Given the description of an element on the screen output the (x, y) to click on. 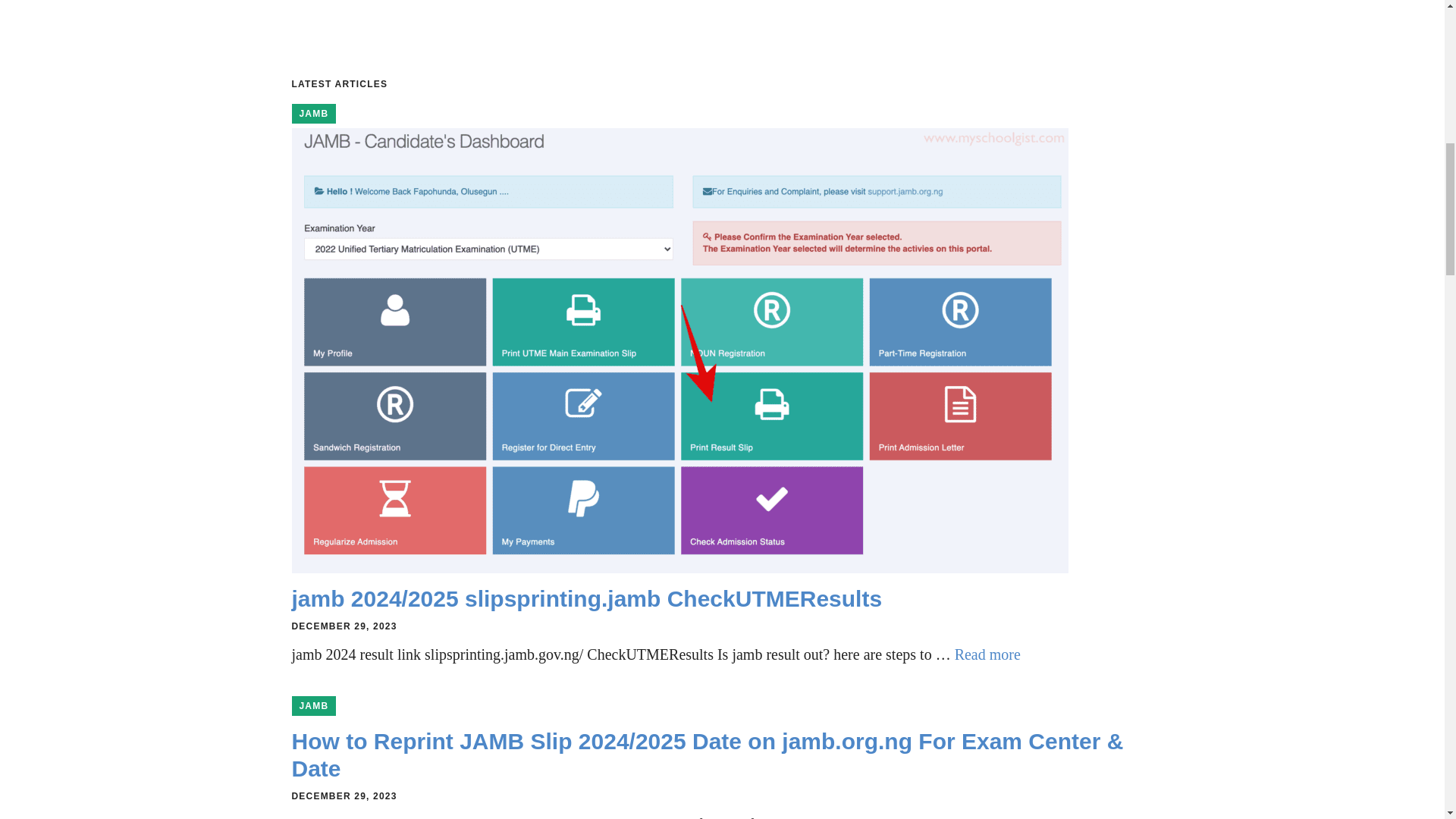
JAMB (313, 705)
JAMB (313, 113)
Read more (913, 817)
Read more (987, 654)
